Given the description of an element on the screen output the (x, y) to click on. 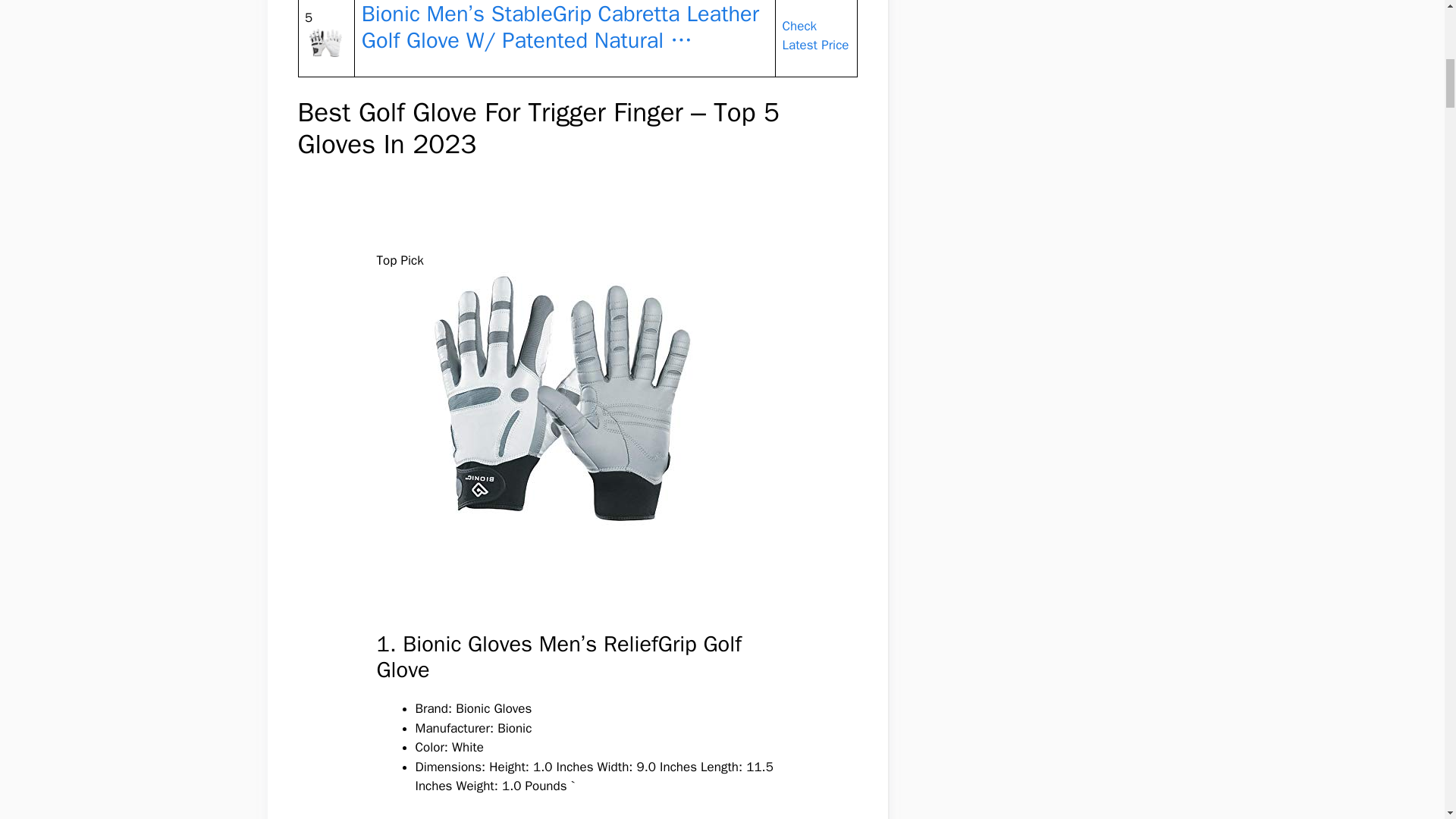
Scroll back to top (1406, 720)
Check Latest Price (815, 36)
